Given the description of an element on the screen output the (x, y) to click on. 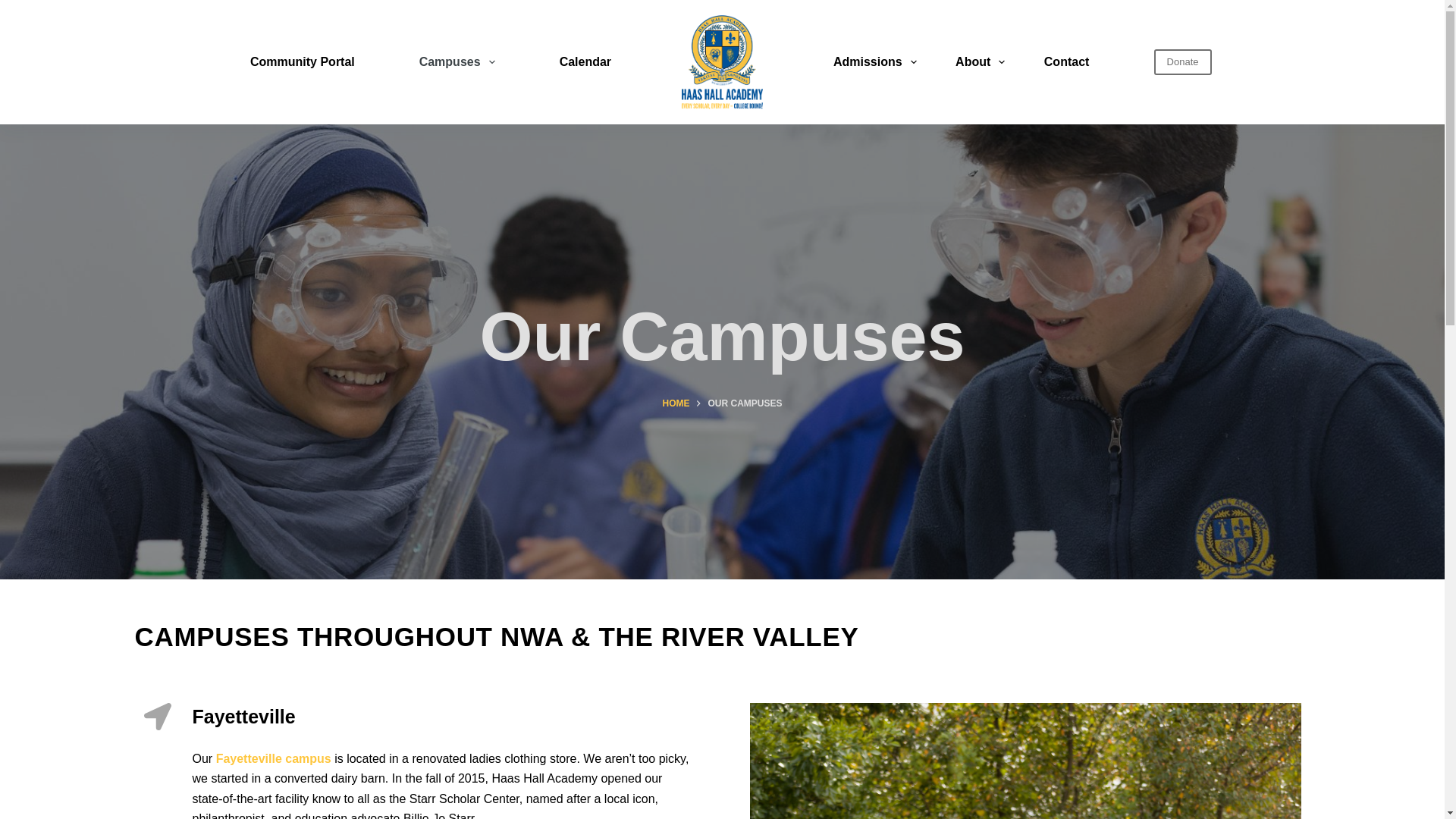
Fayetteville campus (273, 758)
About (980, 62)
HOME (675, 403)
Calendar (585, 62)
Donate (1182, 62)
Our Campuses (722, 336)
Campuses (456, 62)
Skip to content (15, 7)
Community Portal (303, 62)
Admissions (875, 62)
Contact (1066, 62)
